Given the description of an element on the screen output the (x, y) to click on. 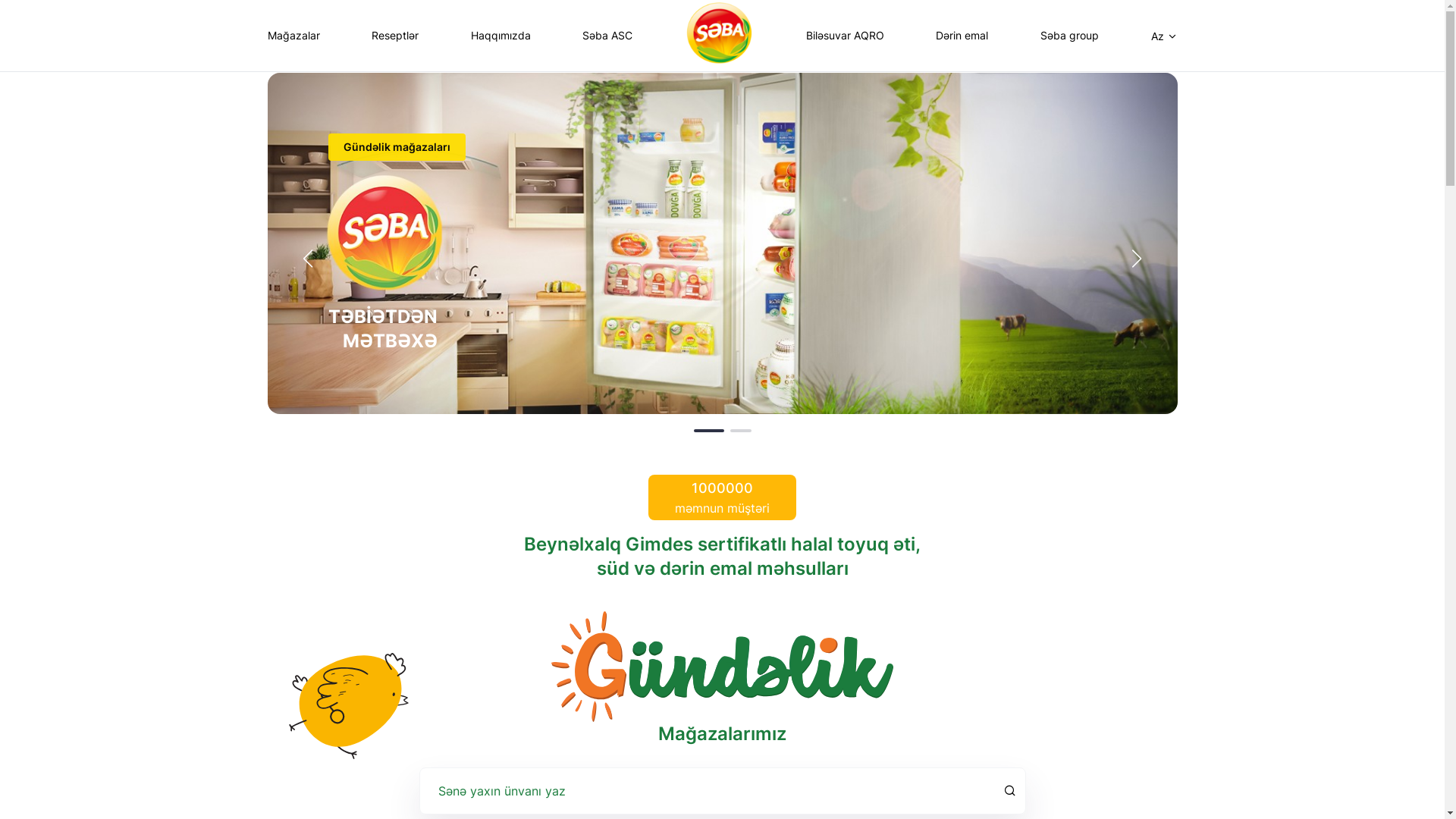
Az Element type: text (1164, 35)
